Given the description of an element on the screen output the (x, y) to click on. 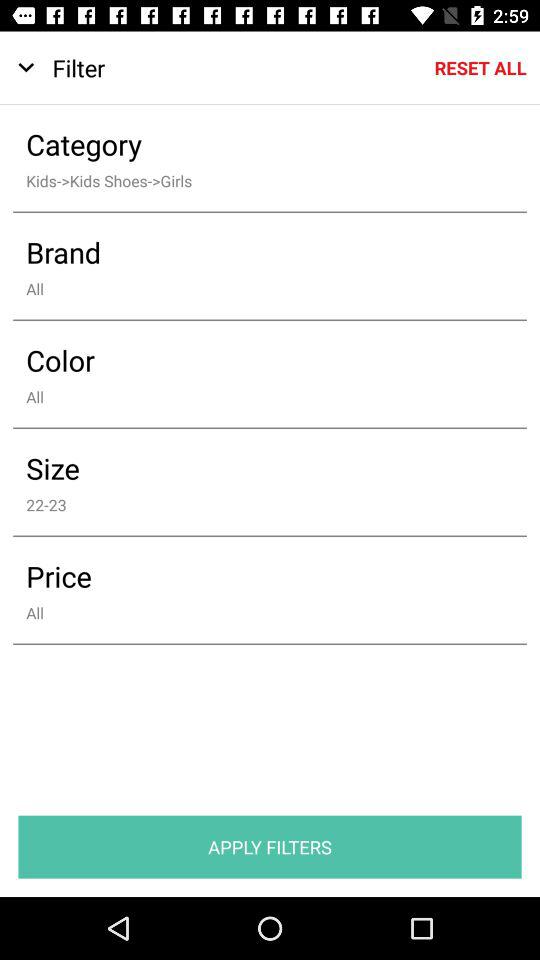
turn off the kids kids shoes icon (256, 180)
